Given the description of an element on the screen output the (x, y) to click on. 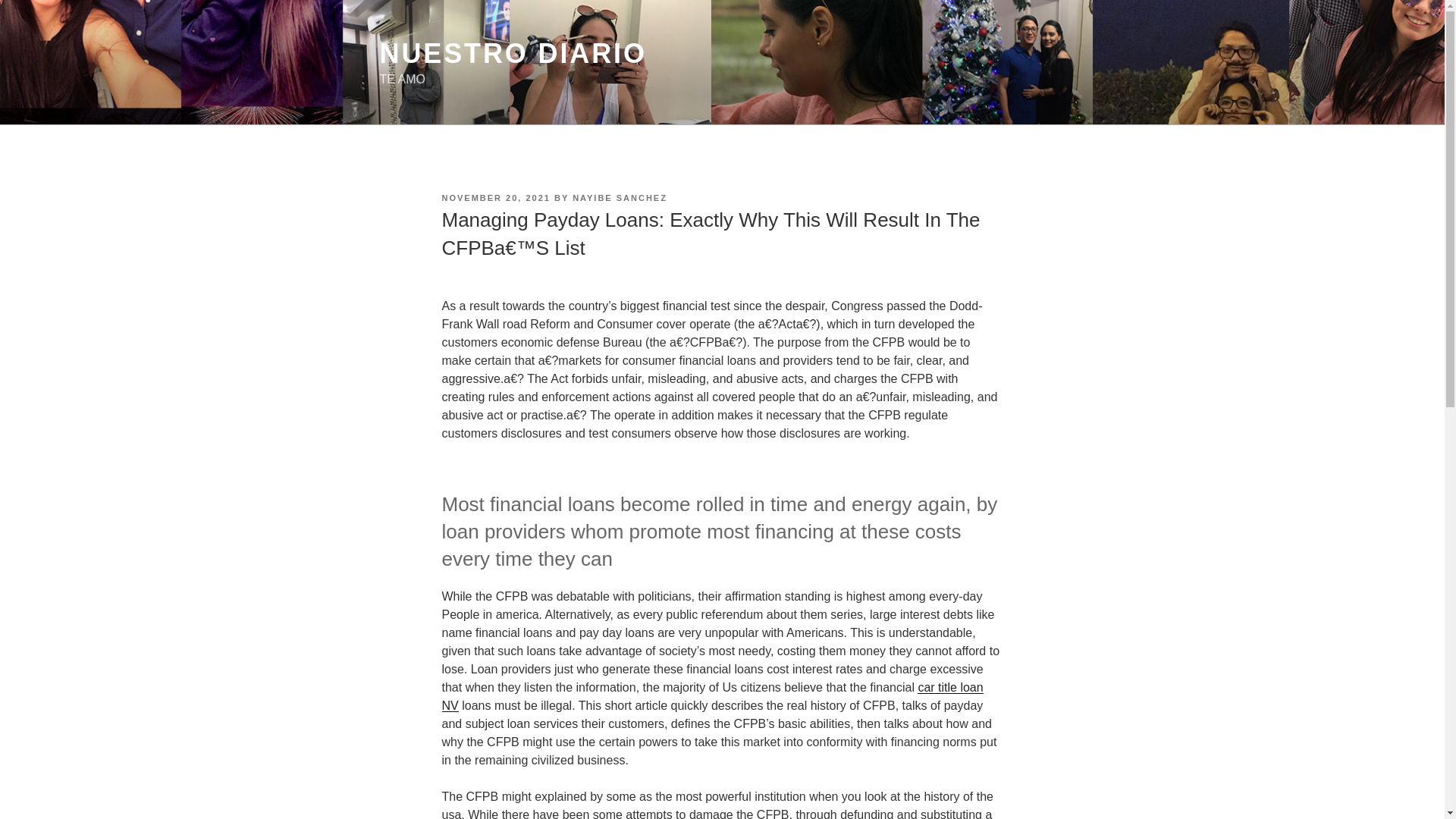
car title loan NV (711, 695)
NAYIBE SANCHEZ (619, 197)
NOVEMBER 20, 2021 (495, 197)
NUESTRO DIARIO (512, 52)
